Given the description of an element on the screen output the (x, y) to click on. 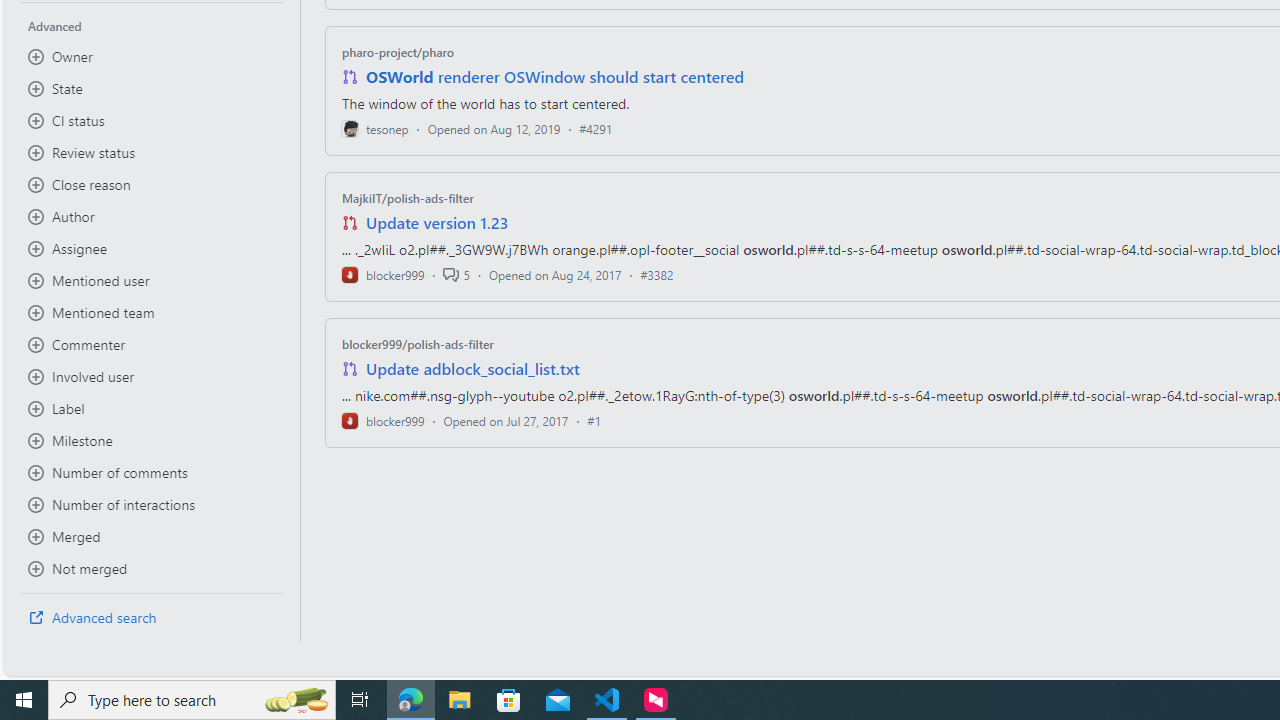
#4291 (595, 128)
blocker999/polish-ads-filter (417, 343)
#3382 (657, 273)
